Given the description of an element on the screen output the (x, y) to click on. 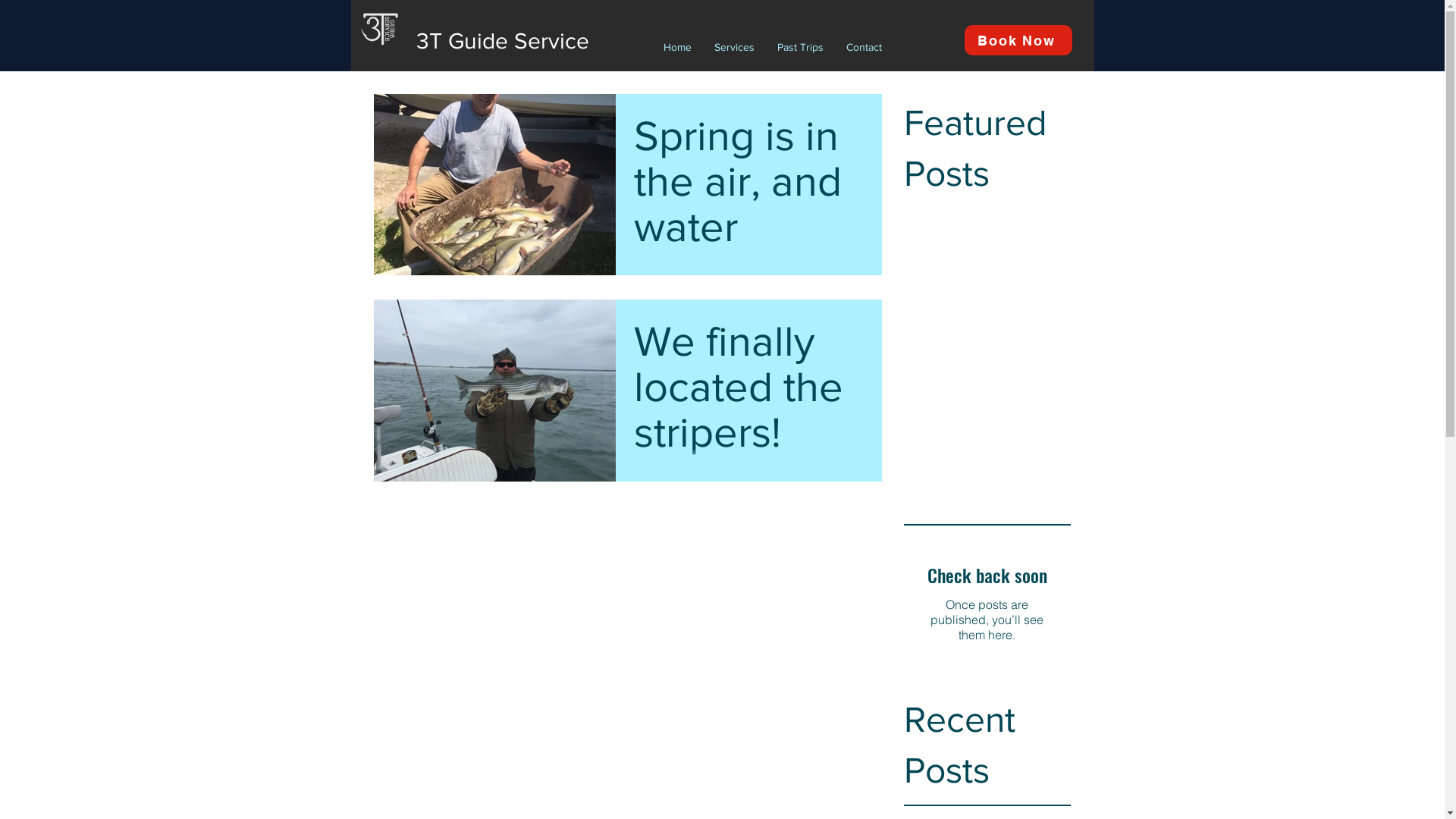
Book Now Element type: text (1018, 40)
Contact Element type: text (863, 46)
Past Trips Element type: text (799, 46)
We finally located the stripers! Element type: text (748, 390)
Home Element type: text (677, 46)
Spring is in the air, and water Element type: text (748, 185)
Services Element type: text (733, 46)
